Given the description of an element on the screen output the (x, y) to click on. 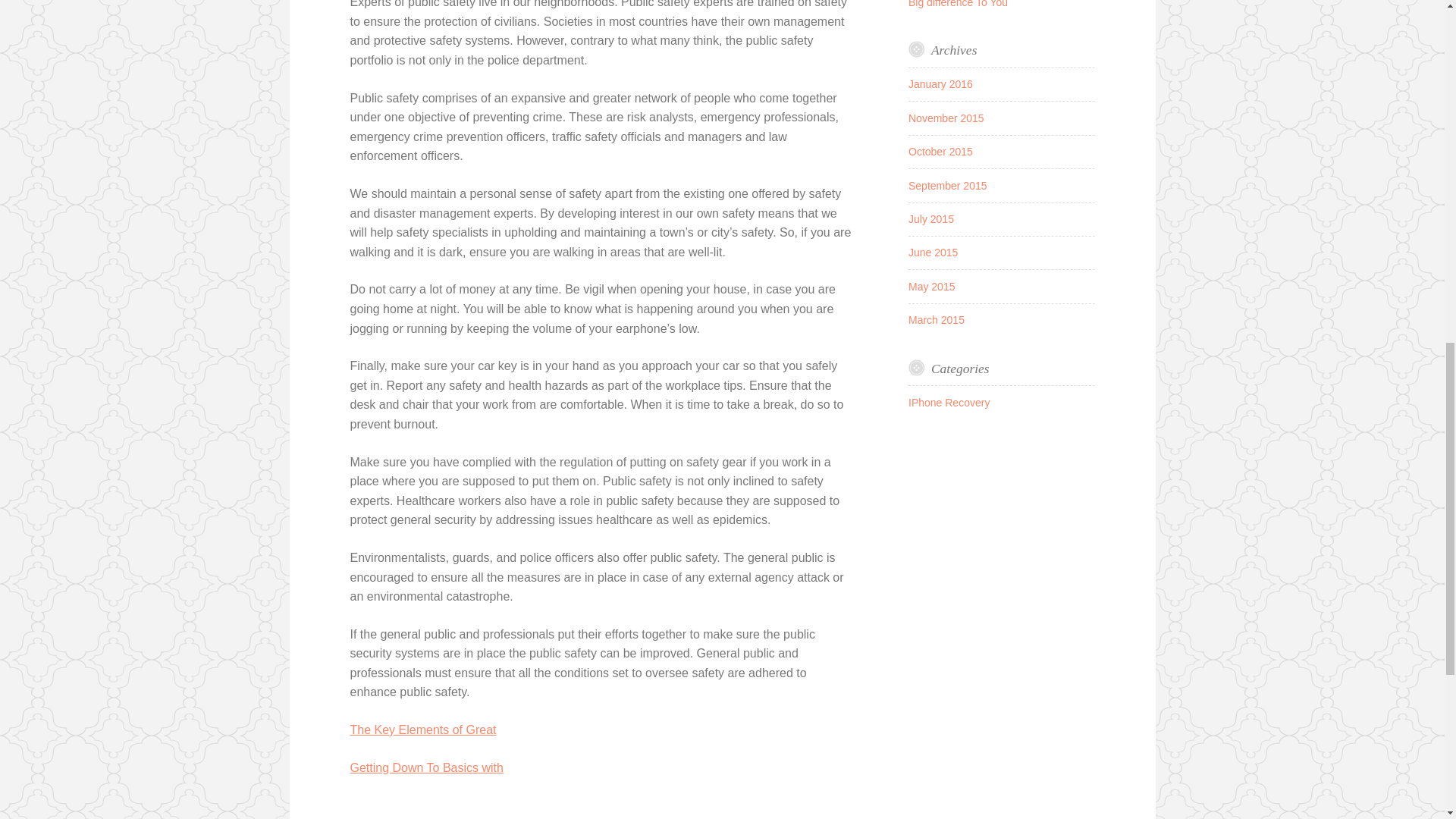
The Key Elements of Great (423, 729)
The Iphone And How It Can Make A Big difference To You (992, 3)
July 2015 (930, 218)
November 2015 (946, 118)
IPhone Recovery (949, 402)
May 2015 (931, 286)
September 2015 (947, 185)
Getting Down To Basics with (426, 767)
October 2015 (940, 151)
March 2015 (935, 319)
